Given the description of an element on the screen output the (x, y) to click on. 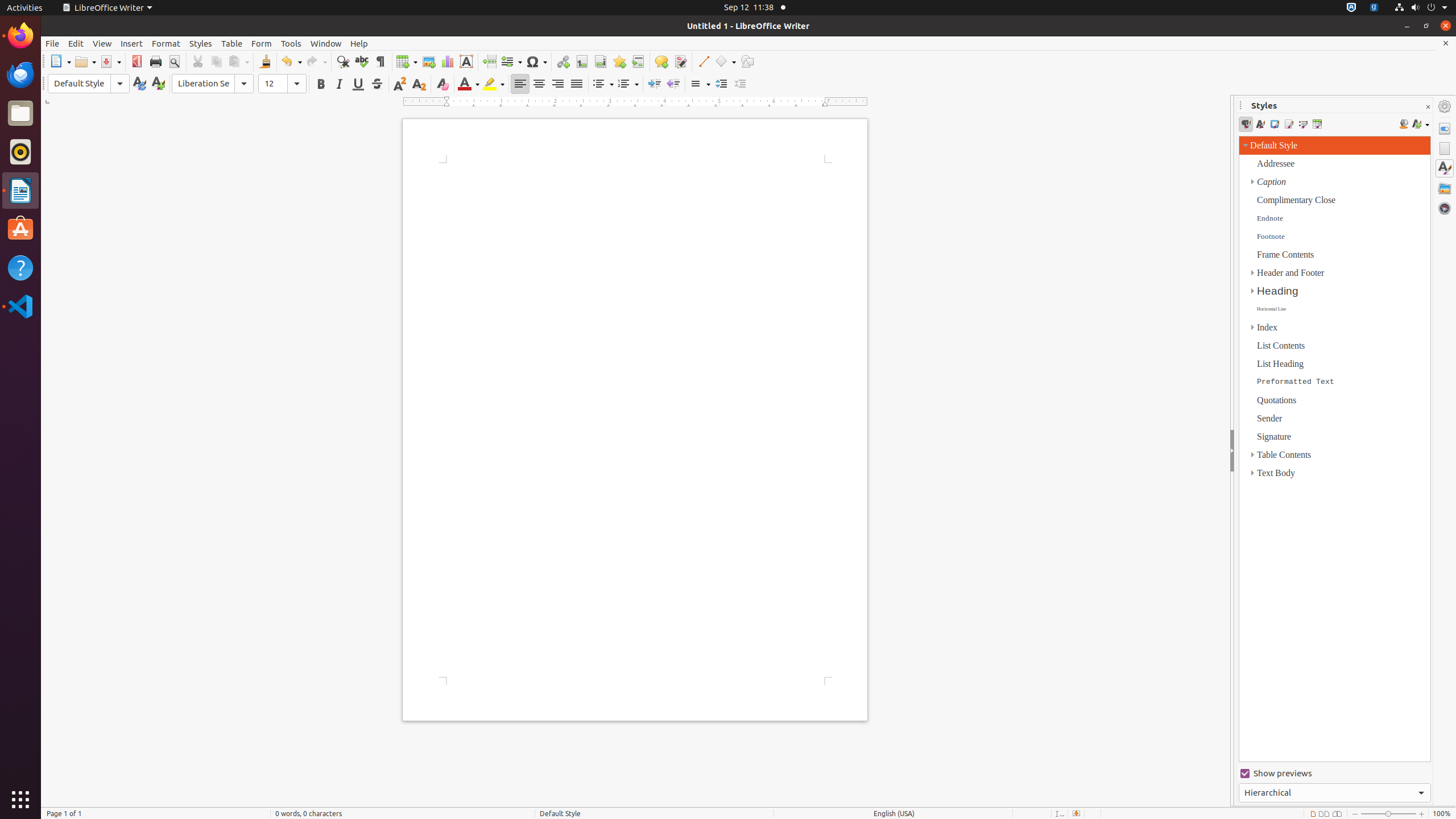
Insert Element type: menu (131, 43)
Update Element type: push-button (138, 83)
Bookmark Element type: push-button (618, 61)
Cross-reference Element type: push-button (637, 61)
